Given the description of an element on the screen output the (x, y) to click on. 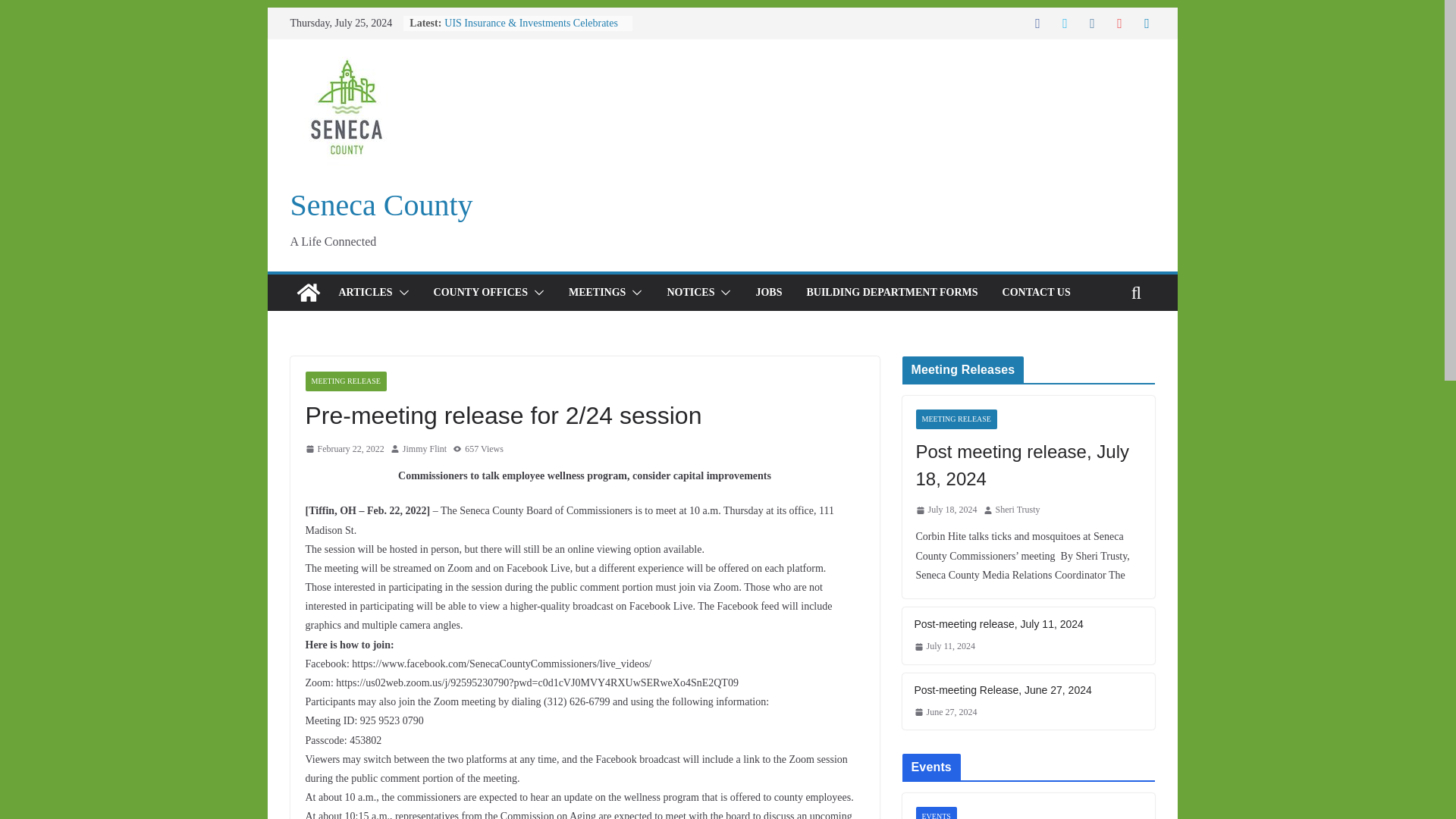
BUILDING DEPARTMENT FORMS (891, 292)
4:49 pm (344, 449)
Jimmy Flint (424, 449)
Seneca County (307, 292)
CONTACT US (1036, 292)
Seneca County (380, 204)
JOBS (768, 292)
Jimmy Flint (424, 449)
MEETING RELEASE (344, 381)
February 22, 2022 (344, 449)
ARTICLES (364, 292)
Seneca County (380, 204)
NOTICES (690, 292)
MEETINGS (597, 292)
